Given the description of an element on the screen output the (x, y) to click on. 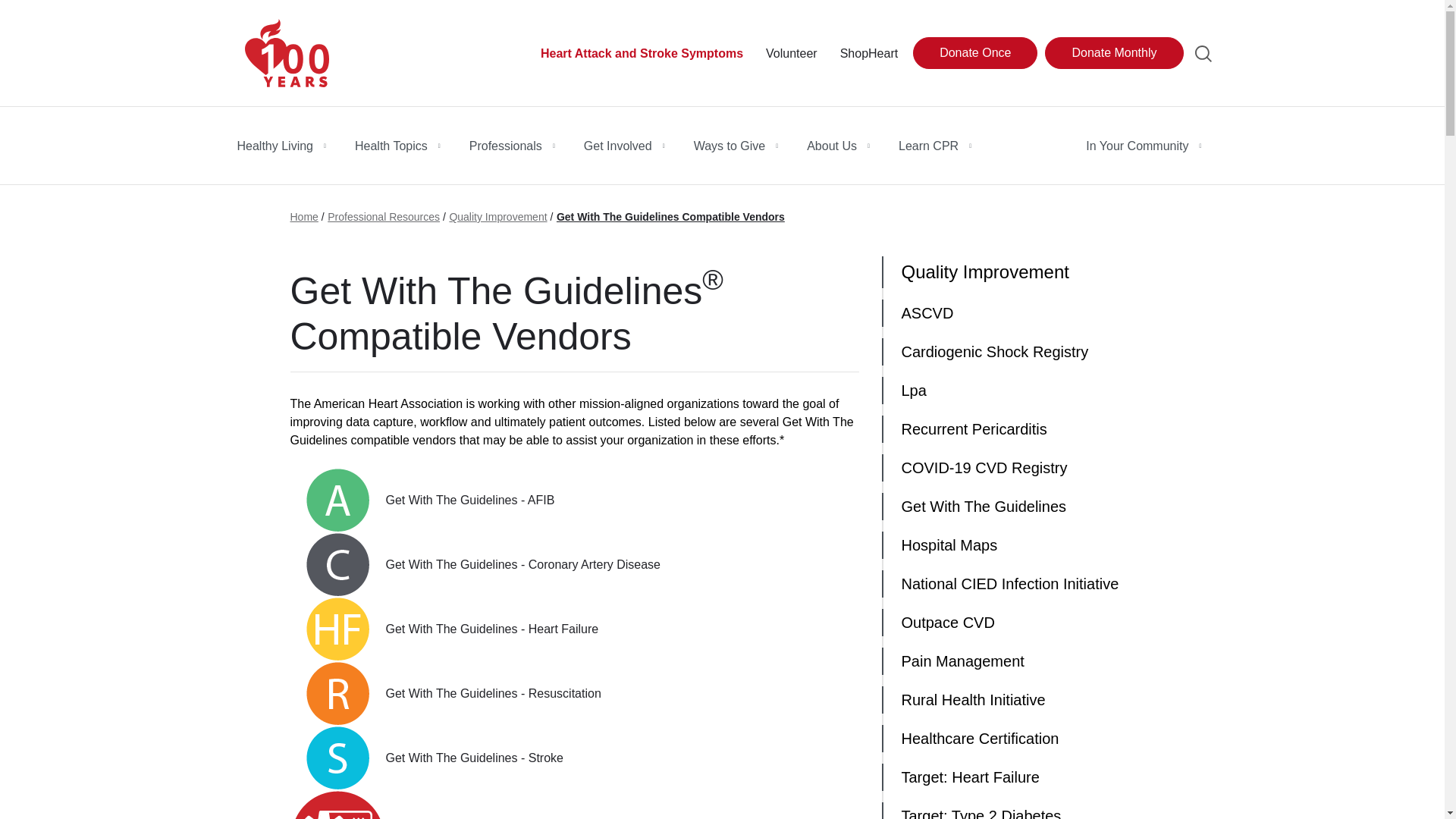
Volunteer (790, 54)
Heart Attack and Stroke Symptoms (641, 54)
ShopHeart (869, 54)
Donate Once (974, 52)
Donate Monthly (1113, 52)
Search (1203, 54)
